Given the description of an element on the screen output the (x, y) to click on. 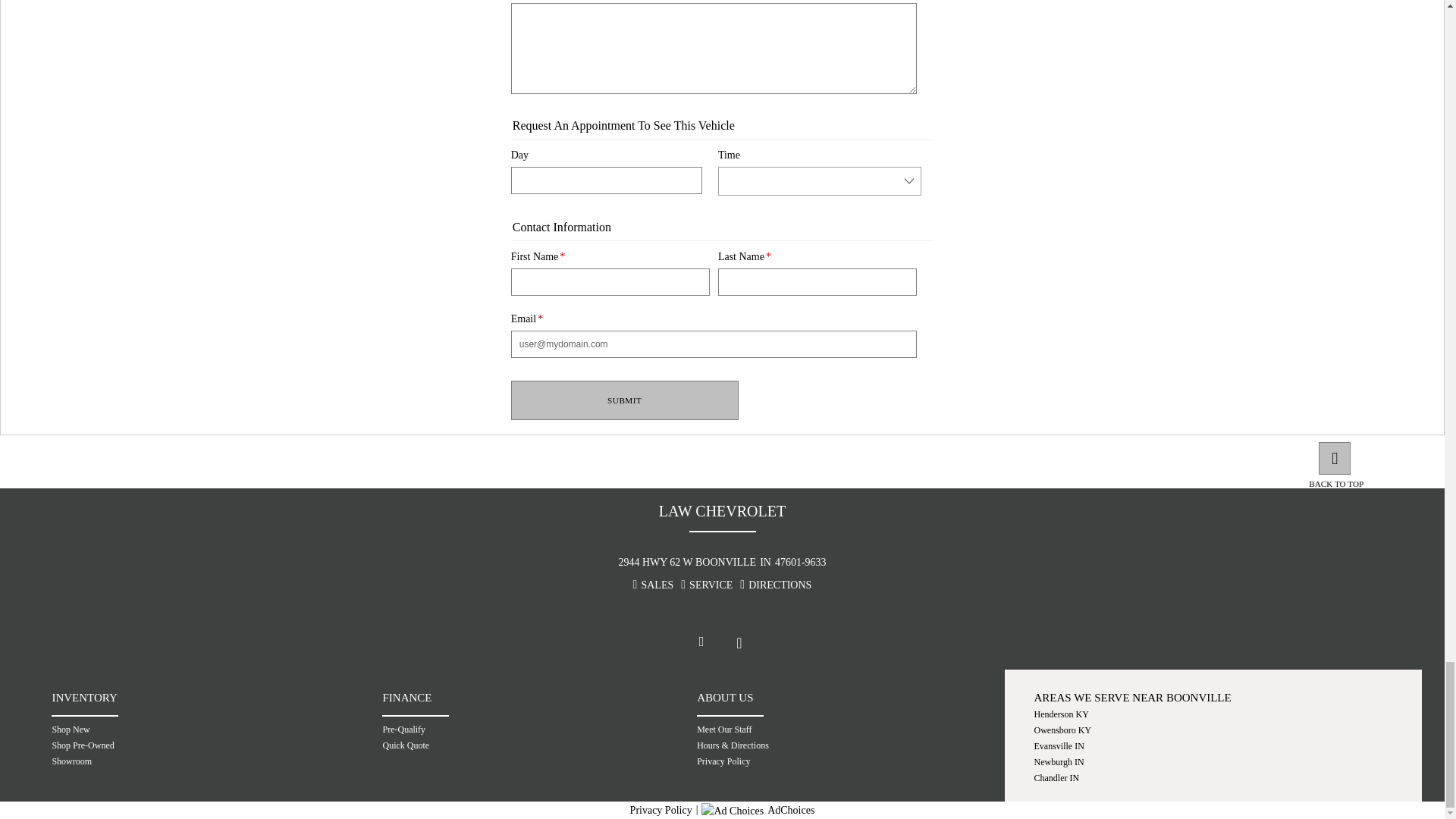
Shop New (164, 729)
Shop Chevrolet Trucks in Henderson KY (1147, 714)
Get a Quick Quote (486, 745)
Model Showroom (164, 761)
Finance Pre-Qualification Form (486, 729)
Privacy Policy (810, 761)
Shop Pre-Owned (164, 745)
Back to Top (1343, 483)
Meet Our Staff (810, 729)
